Given the description of an element on the screen output the (x, y) to click on. 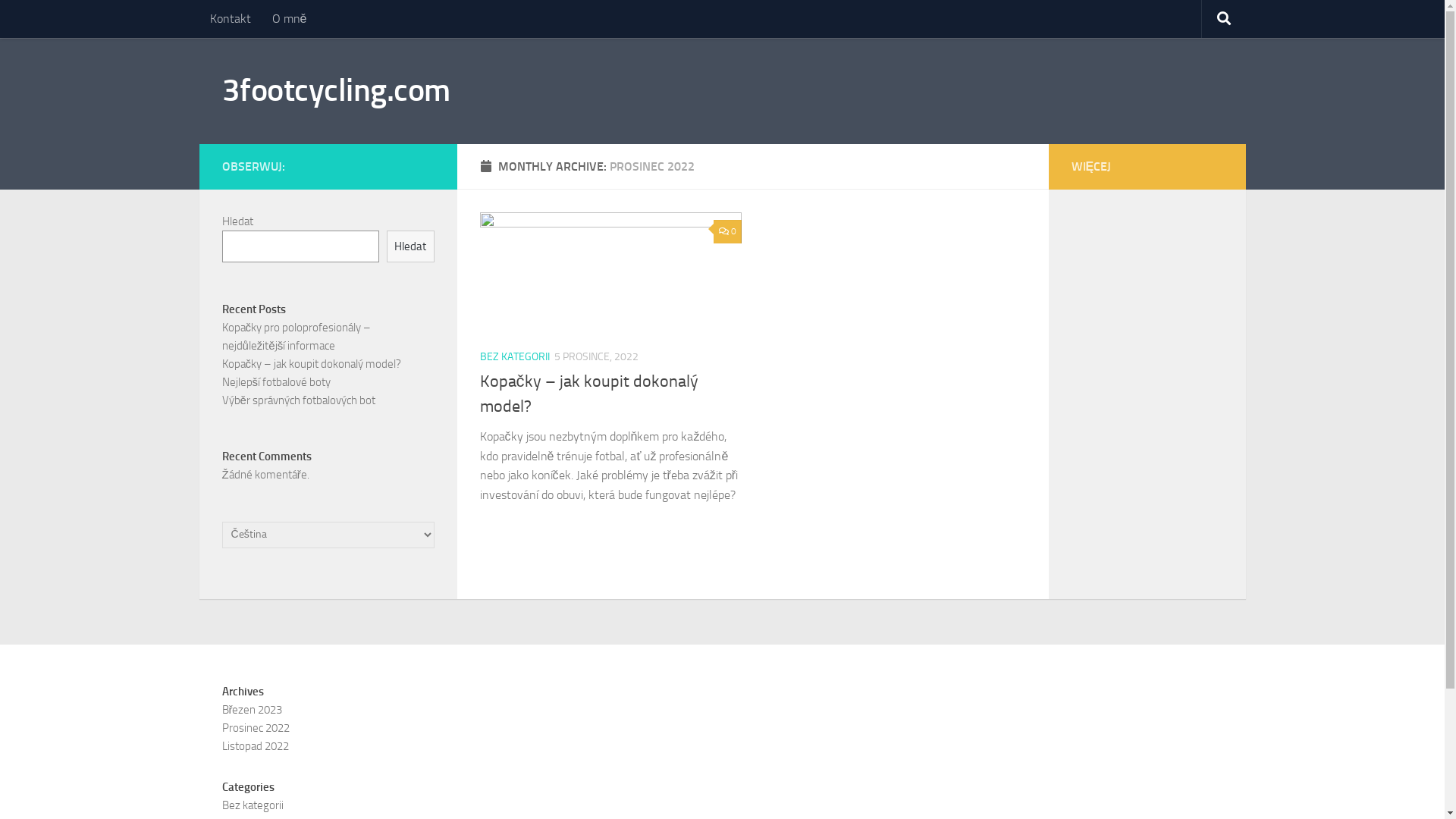
BEZ KATEGORII Element type: text (514, 356)
0 Element type: text (726, 231)
Listopad 2022 Element type: text (254, 746)
3footcycling.com Element type: text (335, 90)
Skip to content Element type: text (60, 21)
Prosinec 2022 Element type: text (254, 727)
Bez kategorii Element type: text (251, 805)
Hledat Element type: text (410, 246)
Kontakt Element type: text (229, 18)
